Given the description of an element on the screen output the (x, y) to click on. 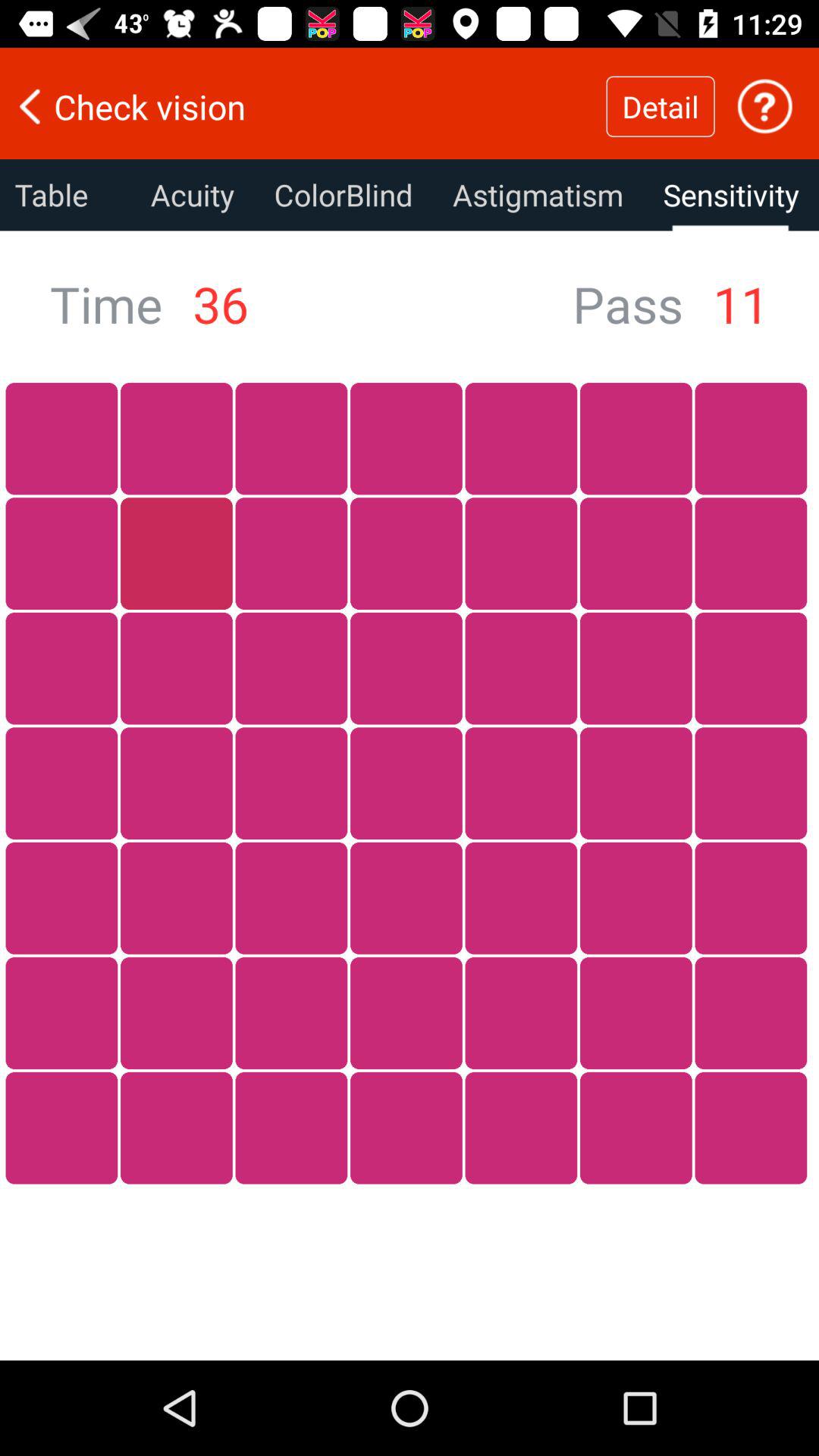
launch the item above table (303, 106)
